Given the description of an element on the screen output the (x, y) to click on. 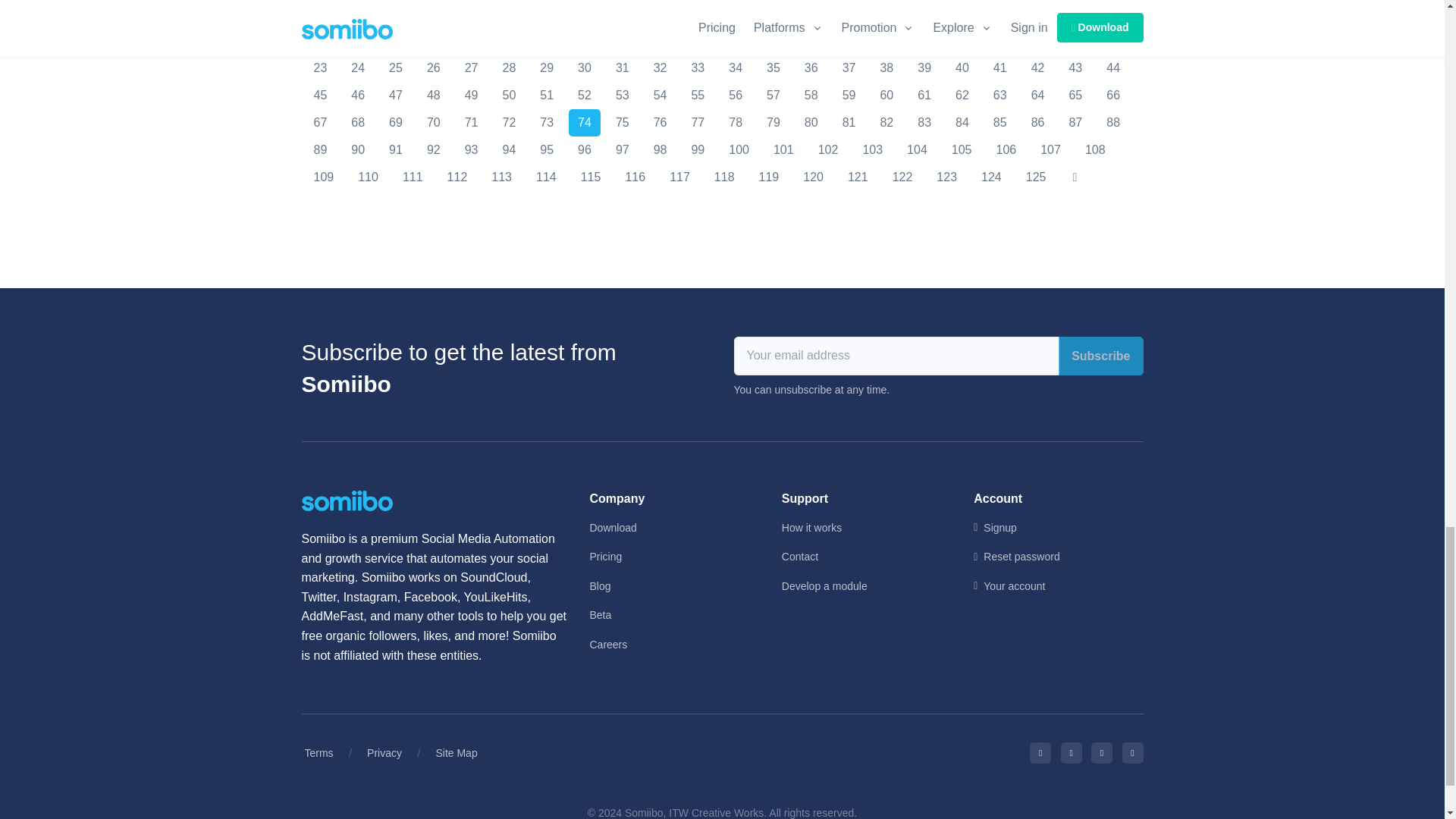
Advertisement (721, 7)
